Given the description of an element on the screen output the (x, y) to click on. 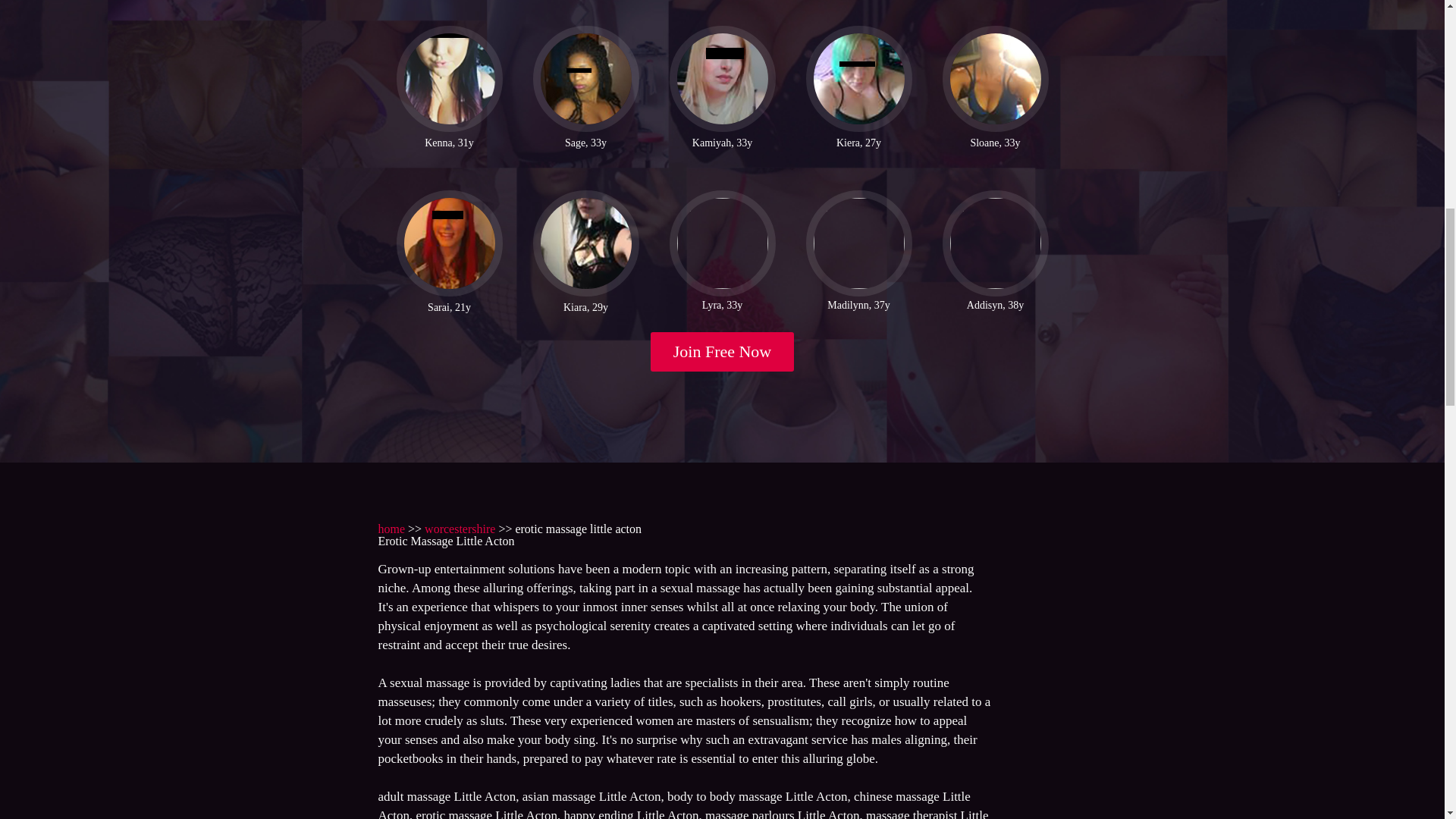
home (390, 528)
Join Free Now (722, 351)
worcestershire (460, 528)
Join (722, 351)
